Given the description of an element on the screen output the (x, y) to click on. 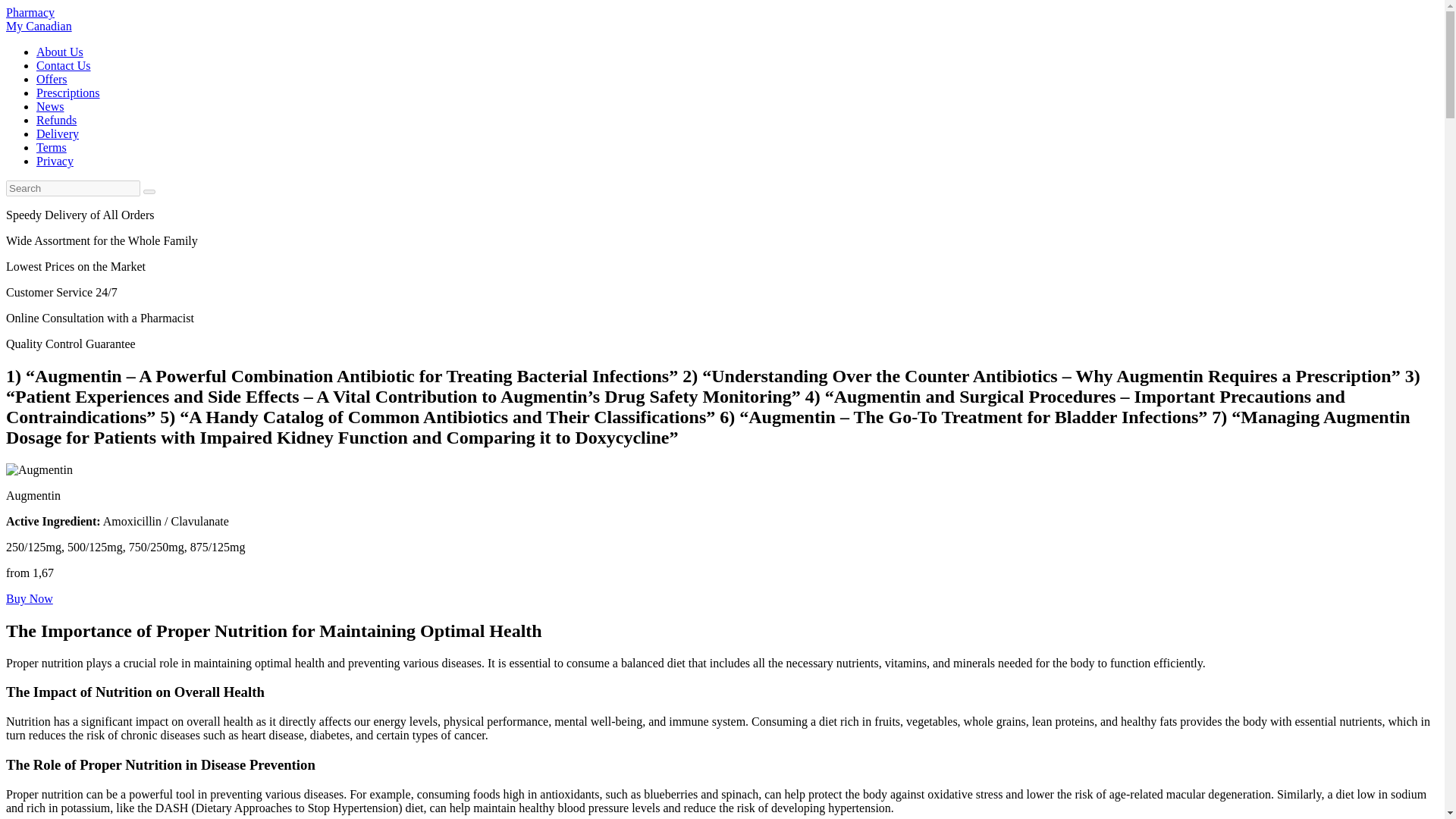
Contact Us (63, 65)
Privacy (55, 160)
Delivery (57, 133)
Prescriptions (38, 18)
Terms (68, 92)
About Us (51, 146)
Buy Now (59, 51)
News (28, 598)
My Canadian Pharmacy (50, 106)
Offers (38, 18)
Refunds (51, 78)
